Given the description of an element on the screen output the (x, y) to click on. 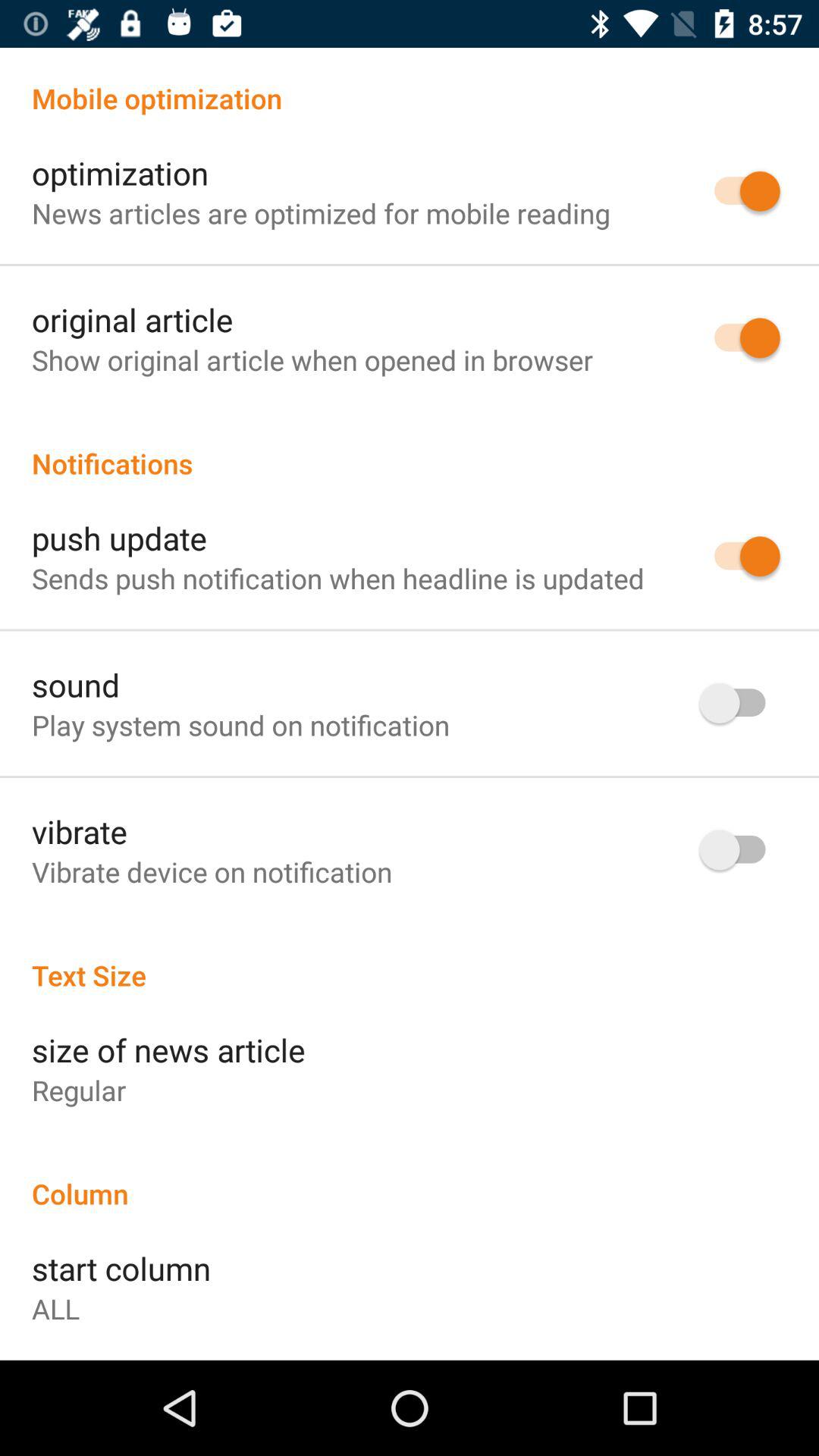
select icon below size of news app (78, 1090)
